Given the description of an element on the screen output the (x, y) to click on. 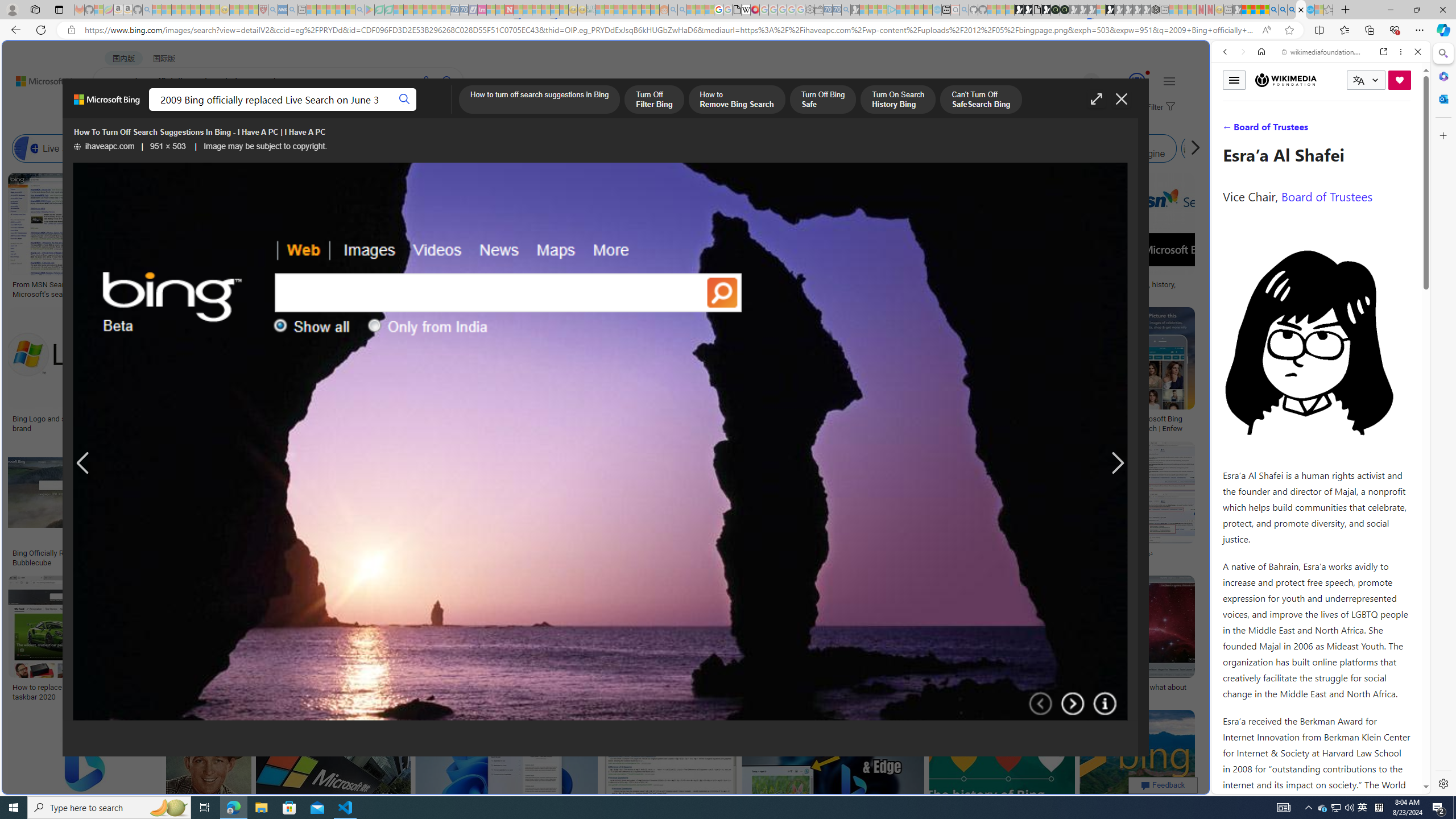
Wikimedia Foundation (1286, 79)
DICT (407, 111)
Previous image result (82, 463)
How to Remove Bing Search (736, 100)
Technology History timeline | Timetoast timelinesSave (835, 237)
Global web icon (1232, 786)
Live Search (25, 148)
Bing (2009) (RARE/FAKE) - YouTube (942, 552)
